Given the description of an element on the screen output the (x, y) to click on. 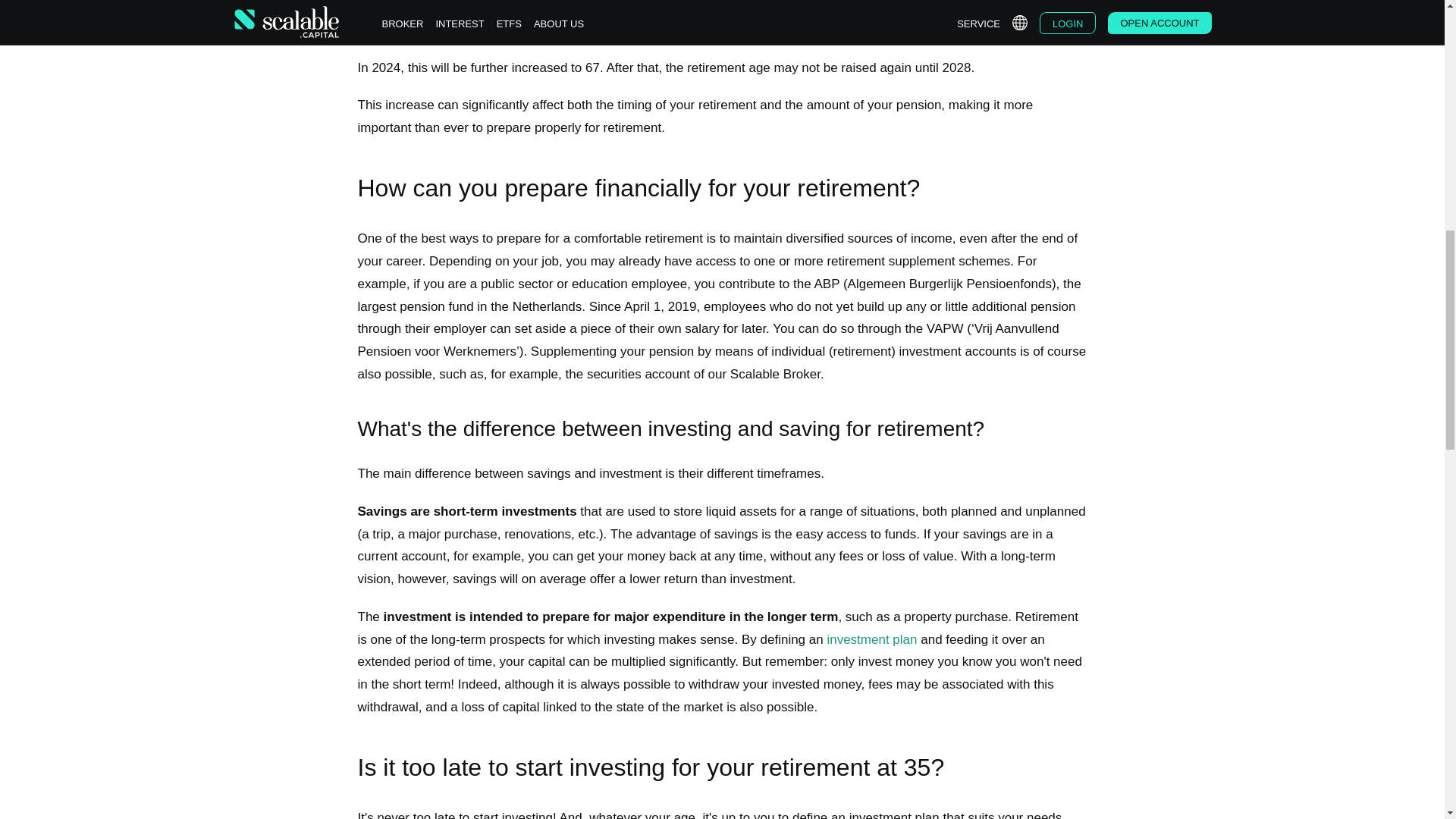
investment plan (872, 639)
Seven things you need to know about ETF savings plans (872, 639)
